Given the description of an element on the screen output the (x, y) to click on. 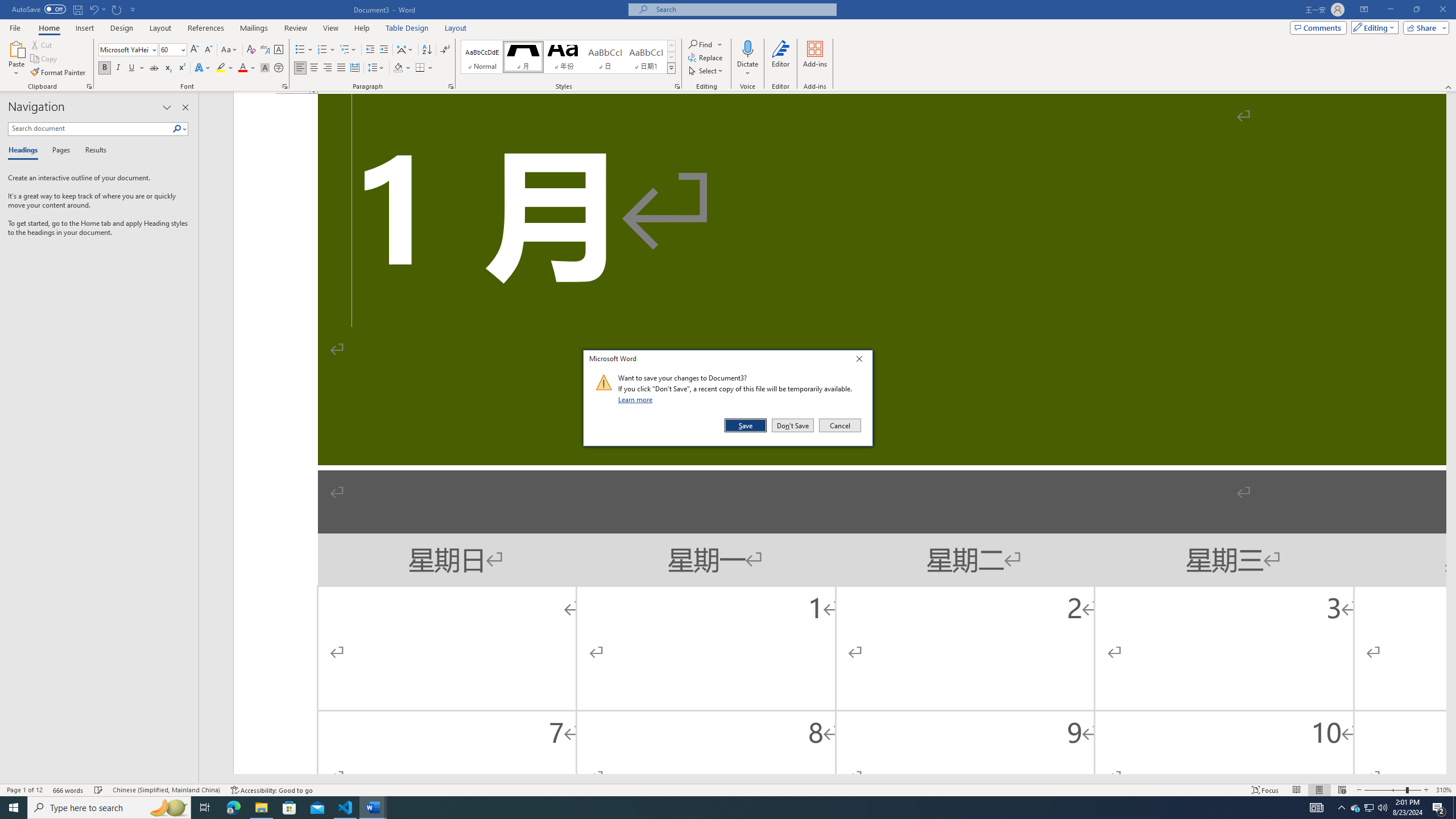
Sort... (426, 49)
Font Color RGB(255, 0, 0) (241, 67)
Styles (670, 67)
Text Highlight Color (224, 67)
Pages (59, 150)
Font... (285, 85)
Class: NetUIScrollBar (822, 778)
Word Count 666 words (68, 790)
Accessibility Checker Accessibility: Good to go (271, 790)
